Given the description of an element on the screen output the (x, y) to click on. 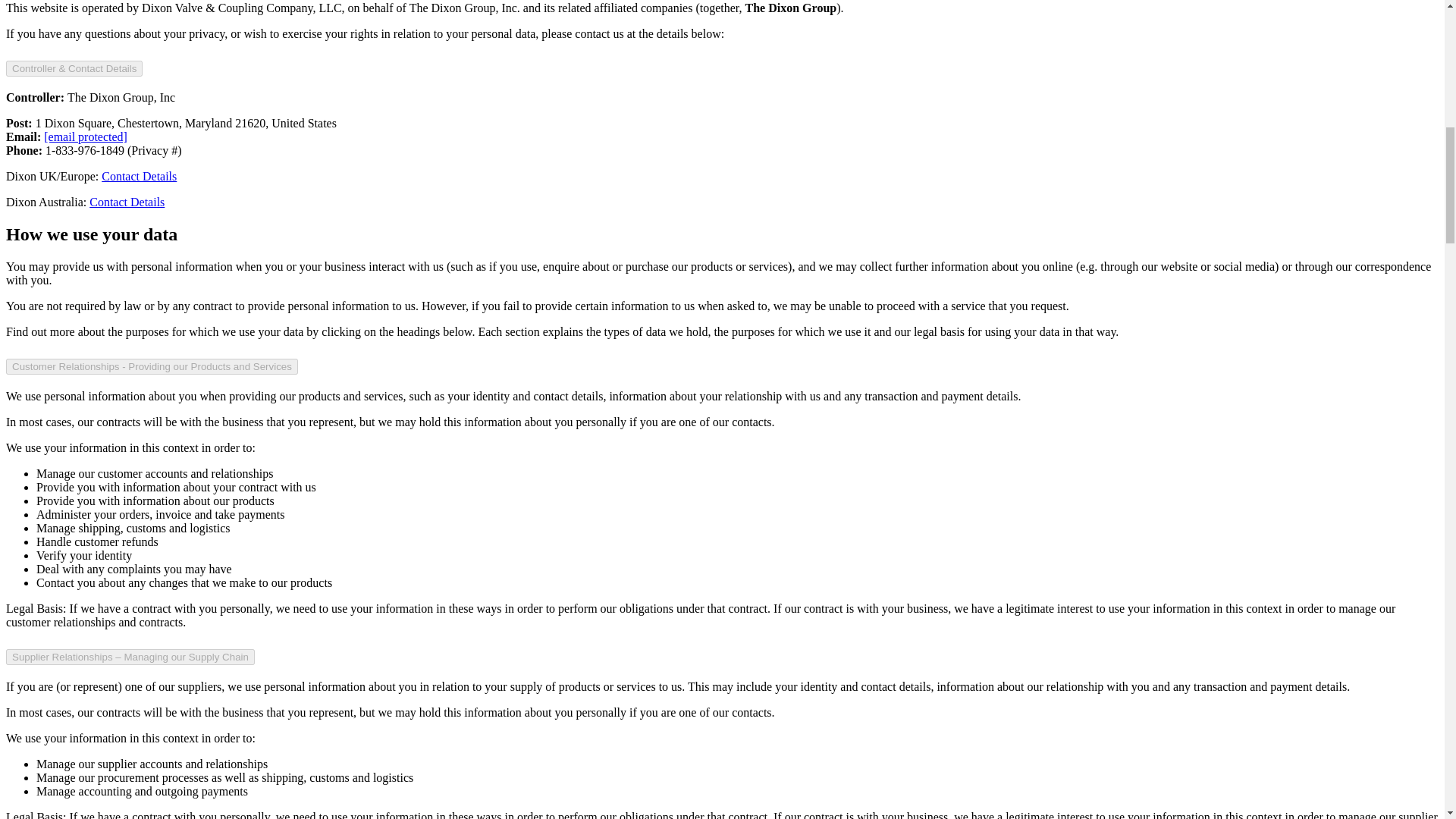
Contact Details (138, 175)
Contact Details (126, 201)
